Given the description of an element on the screen output the (x, y) to click on. 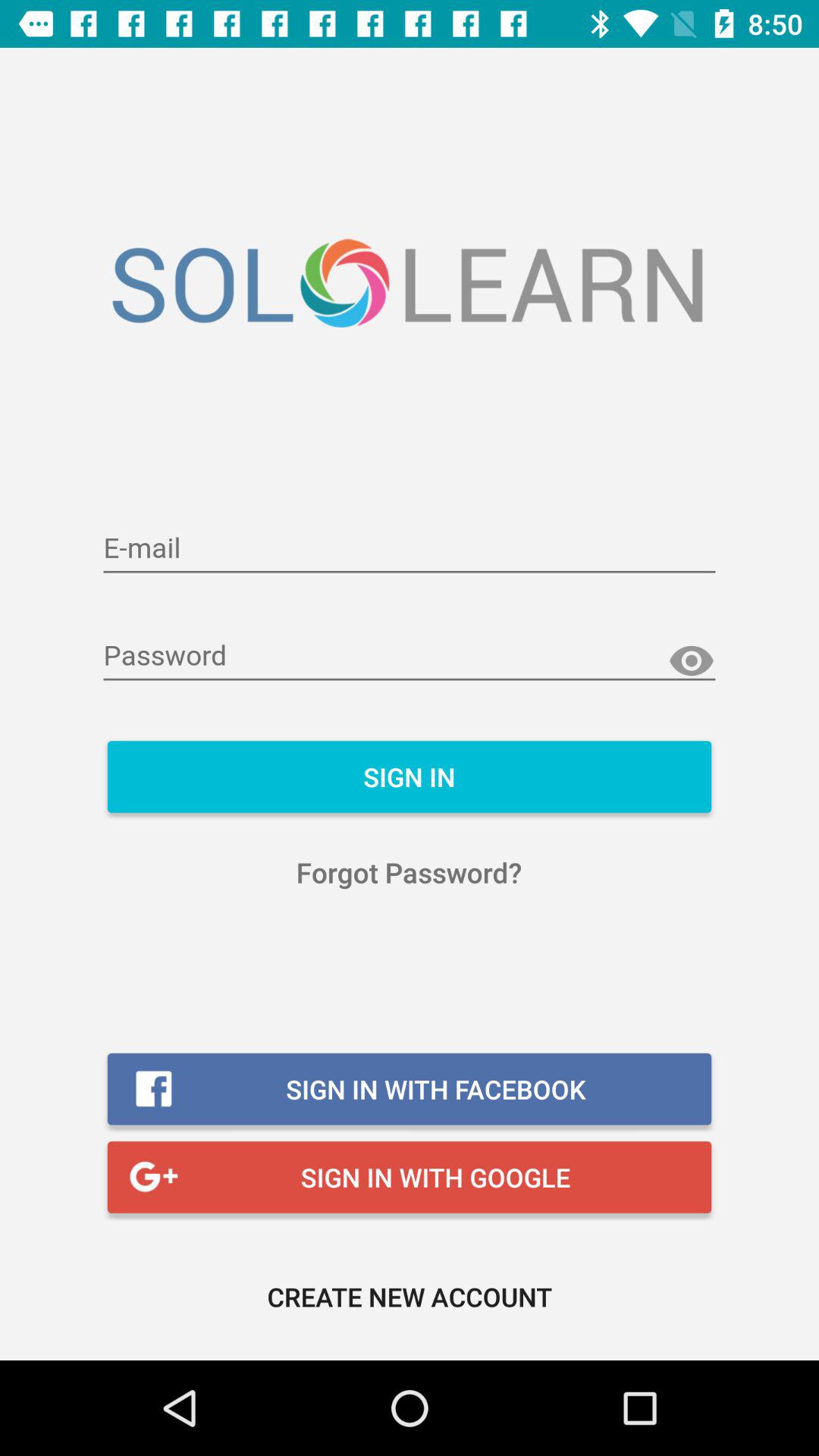
input password (409, 656)
